Given the description of an element on the screen output the (x, y) to click on. 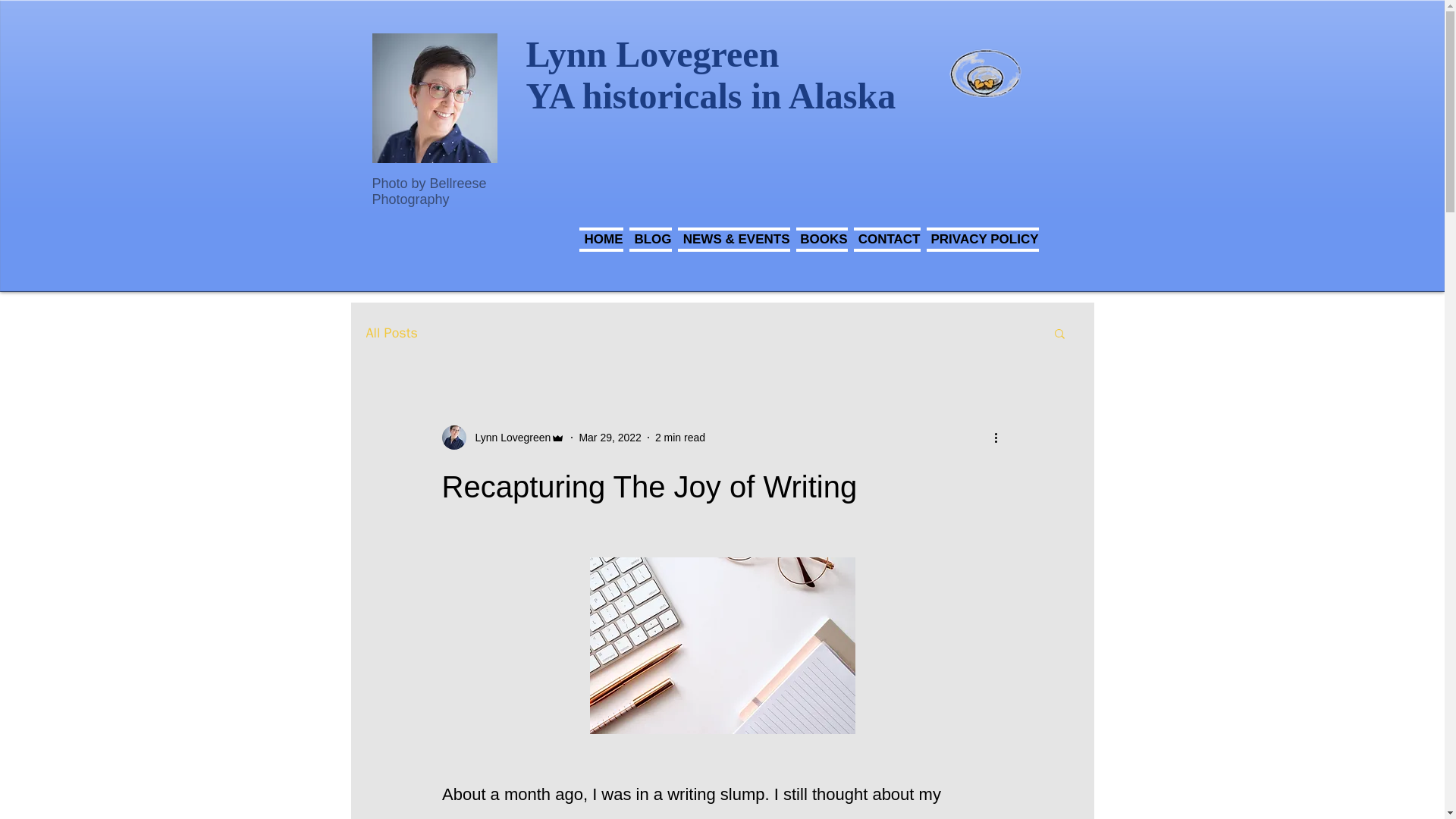
Mar 29, 2022 (610, 436)
PRIVACY POLICY (981, 237)
All Posts (390, 332)
2 min read (679, 436)
BOOKS (821, 237)
Lynn Lovegreen (507, 437)
CONTACT (886, 237)
HOME (602, 237)
BLOG (650, 237)
